Given the description of an element on the screen output the (x, y) to click on. 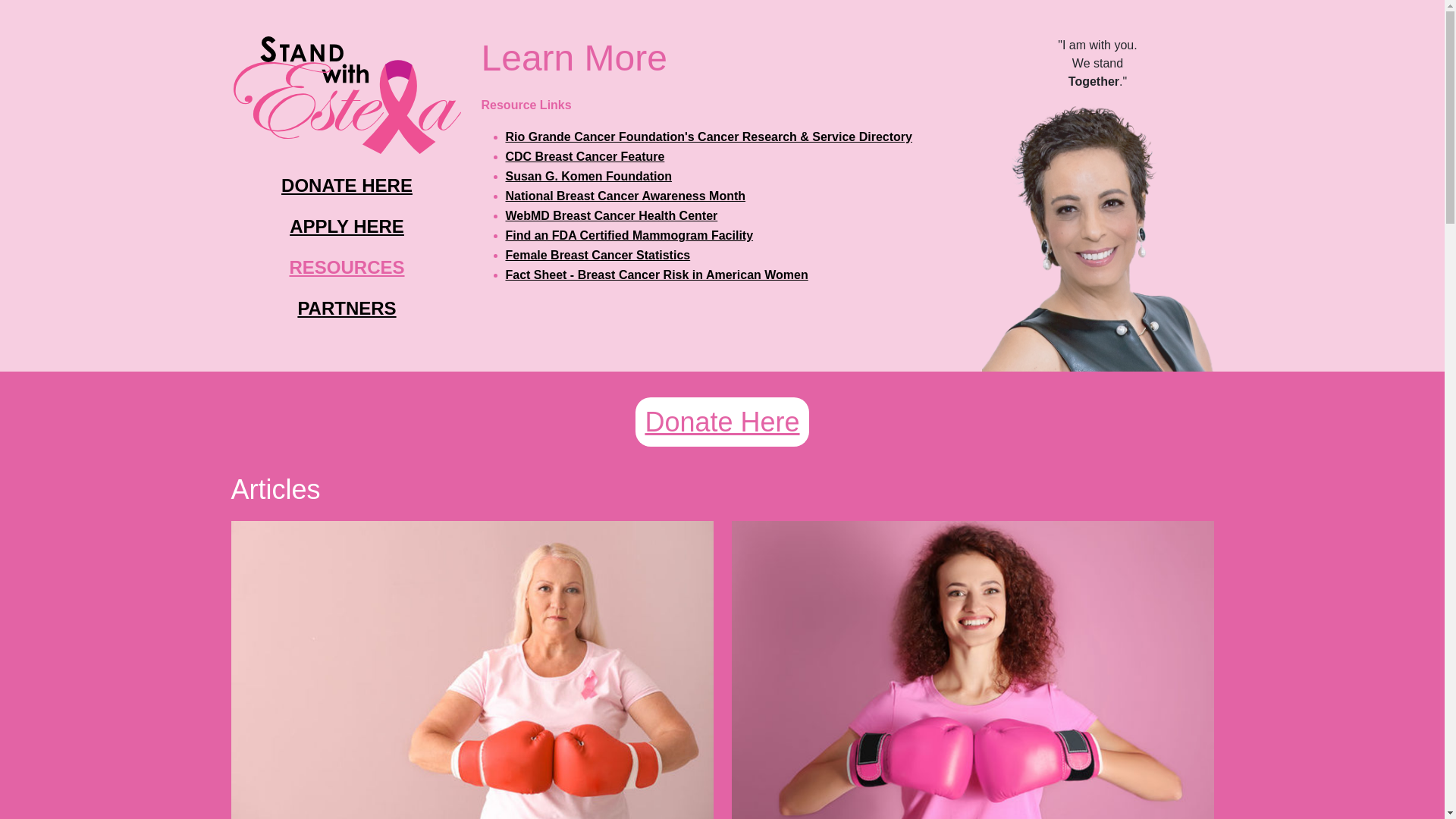
Find an FDA Certified Mammogram Facility (628, 235)
Female Breast Cancer Statistics (597, 254)
APPLY HERE (346, 226)
PARTNERS (346, 308)
WebMD Breast Cancer Health Center (611, 215)
Fact Sheet - Breast Cancer Risk in American Women (656, 274)
National Breast Cancer Awareness Month (625, 195)
RESOURCES (346, 267)
Susan G. Komen Foundation (588, 175)
CDC Breast Cancer Feature (584, 155)
Donate Here (721, 421)
DONATE HERE (346, 185)
